Given the description of an element on the screen output the (x, y) to click on. 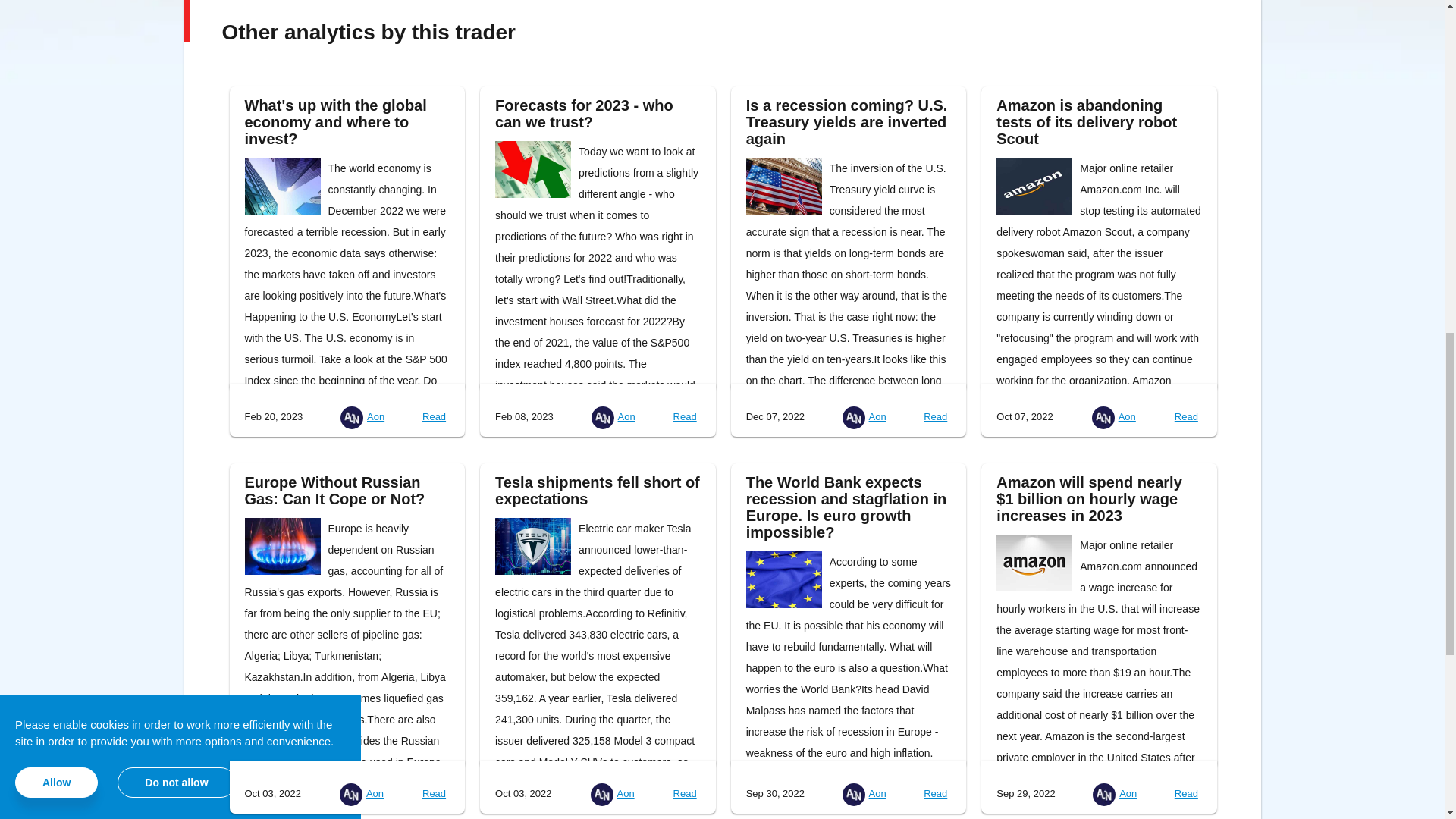
US Dollar Index (783, 186)
Amazon (1033, 562)
Tesla Motors (532, 545)
Amazon (1033, 186)
Natural Gas (282, 545)
